Given the description of an element on the screen output the (x, y) to click on. 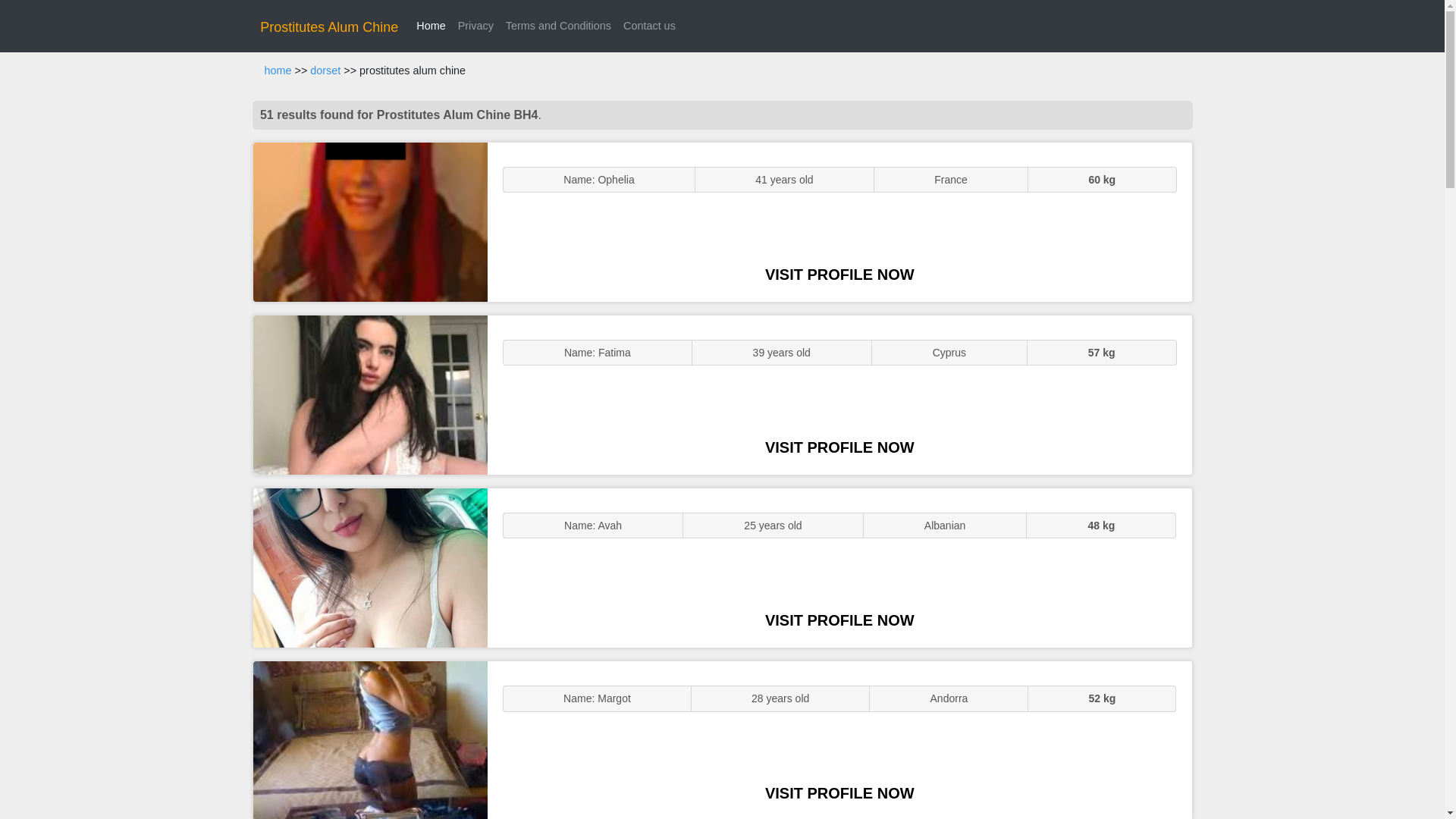
VISIT PROFILE NOW (839, 446)
VISIT PROFILE NOW (839, 619)
VISIT PROFILE NOW (839, 792)
Sluts (370, 739)
Terms and Conditions (558, 25)
Privacy (475, 25)
VISIT PROFILE NOW (839, 274)
GFE (370, 395)
home (277, 70)
Contact us (649, 25)
